Given the description of an element on the screen output the (x, y) to click on. 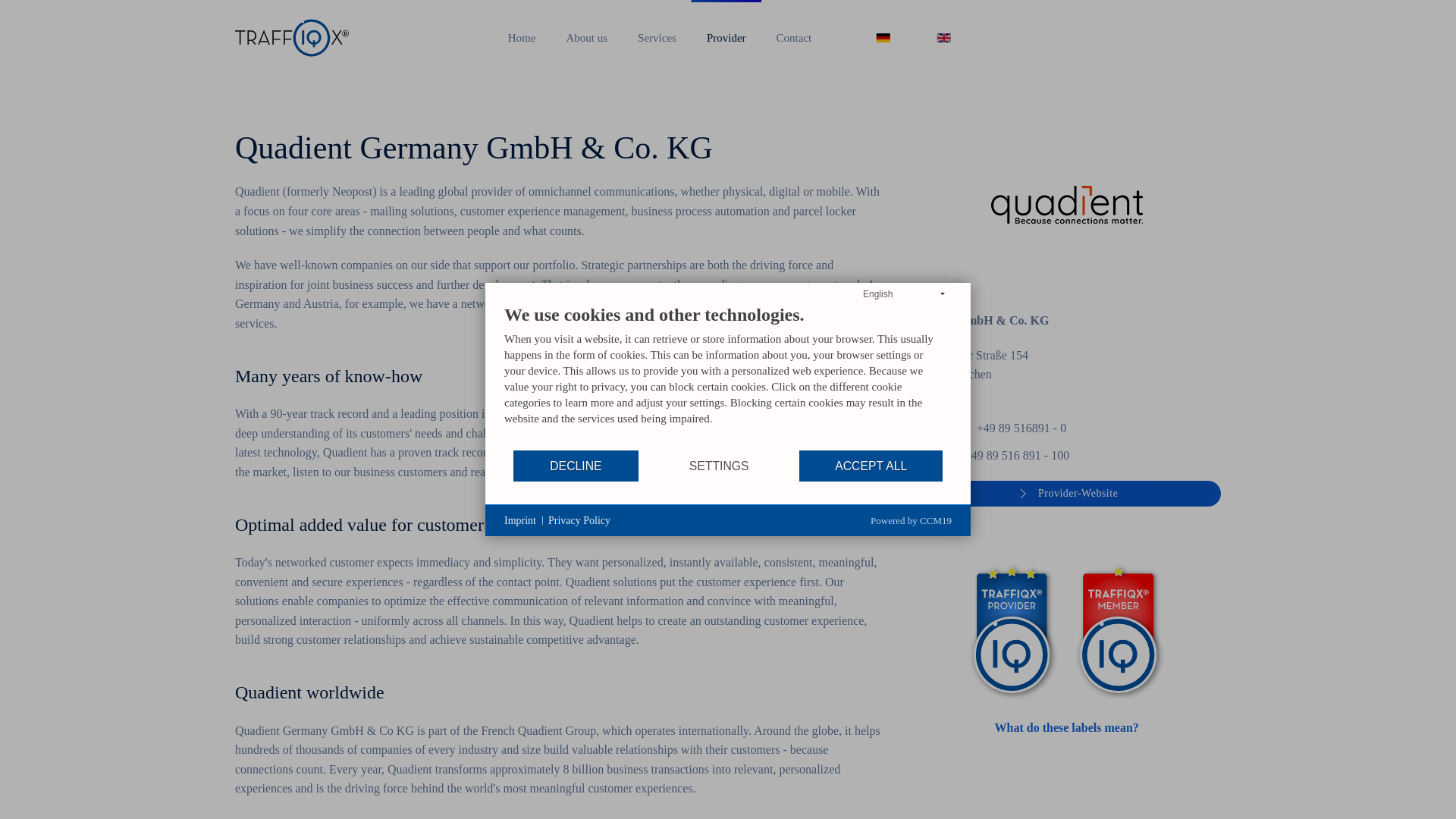
Home (522, 38)
Services (657, 38)
About us (586, 38)
Provider (726, 38)
